Given the description of an element on the screen output the (x, y) to click on. 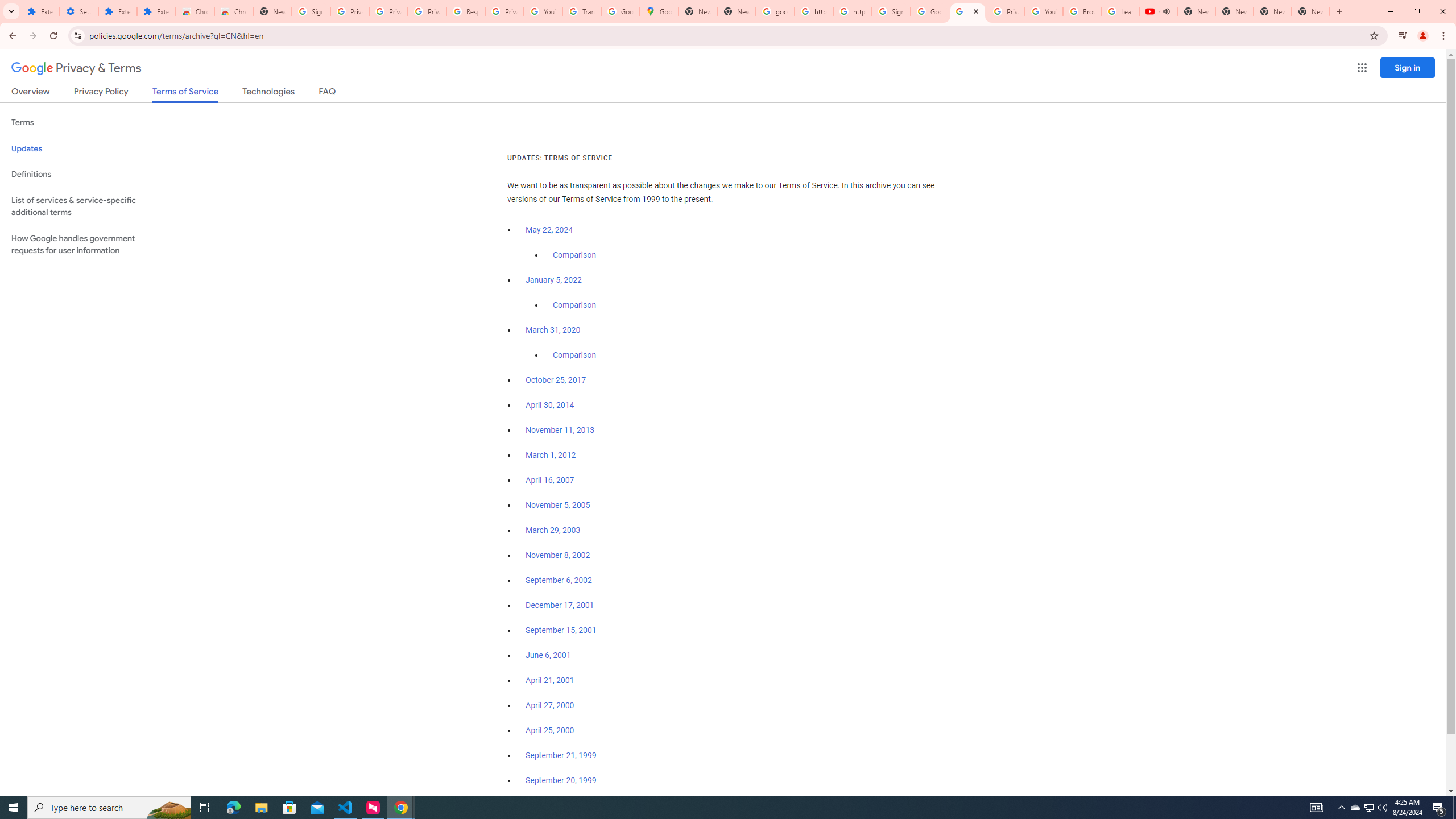
Extensions (156, 11)
March 1, 2012 (550, 455)
YouTube (1043, 11)
